Given the description of an element on the screen output the (x, y) to click on. 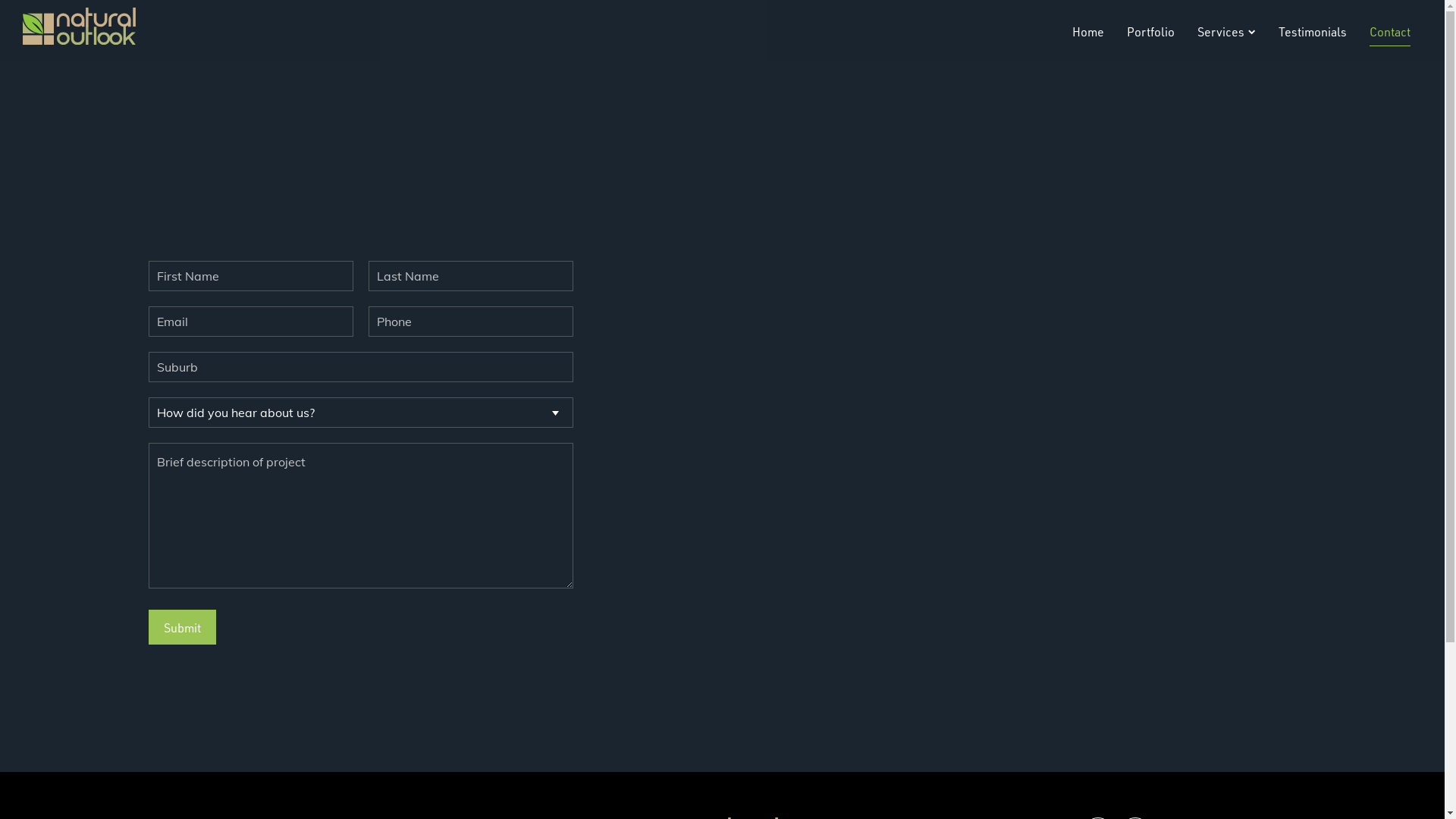
Testimonials Element type: text (1312, 32)
Natural Outlook Landscapes Element type: hover (79, 29)
Submit Element type: text (182, 626)
Services Element type: text (1226, 32)
Portfolio Element type: text (1150, 32)
Home Element type: text (1088, 32)
Contact Element type: text (1389, 32)
